Given the description of an element on the screen output the (x, y) to click on. 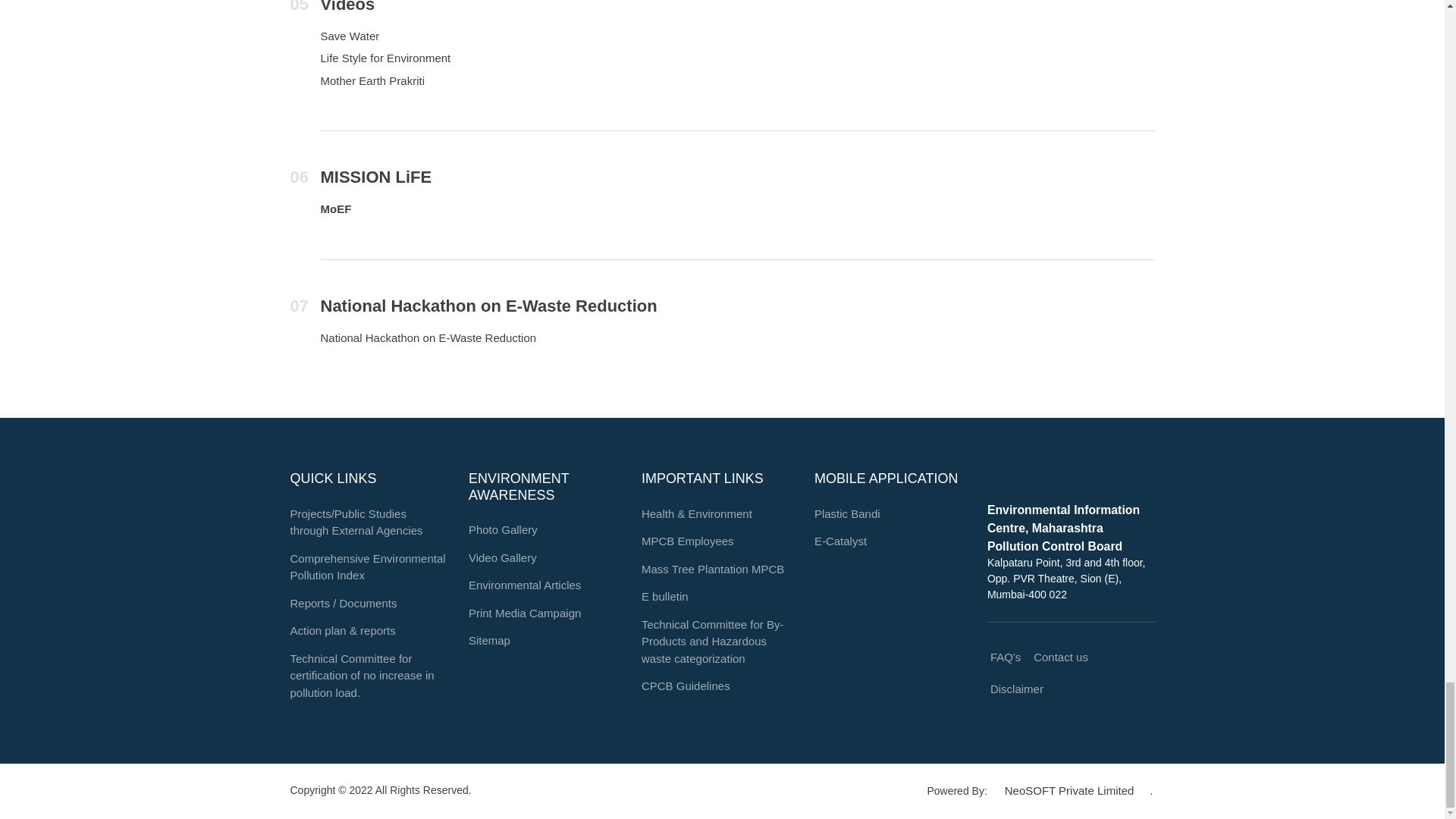
Contact us (1059, 657)
Disclaimer (1016, 689)
FAQ's (1004, 657)
